Given the description of an element on the screen output the (x, y) to click on. 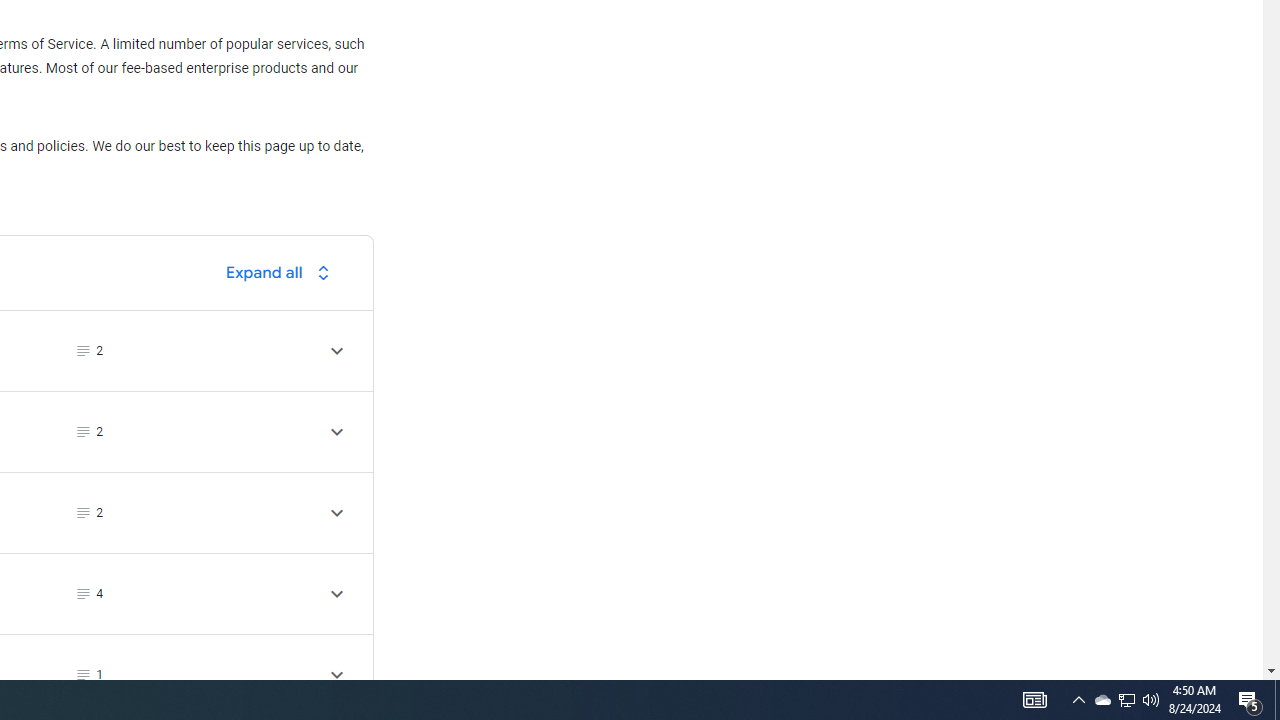
Expand all (283, 272)
